Given the description of an element on the screen output the (x, y) to click on. 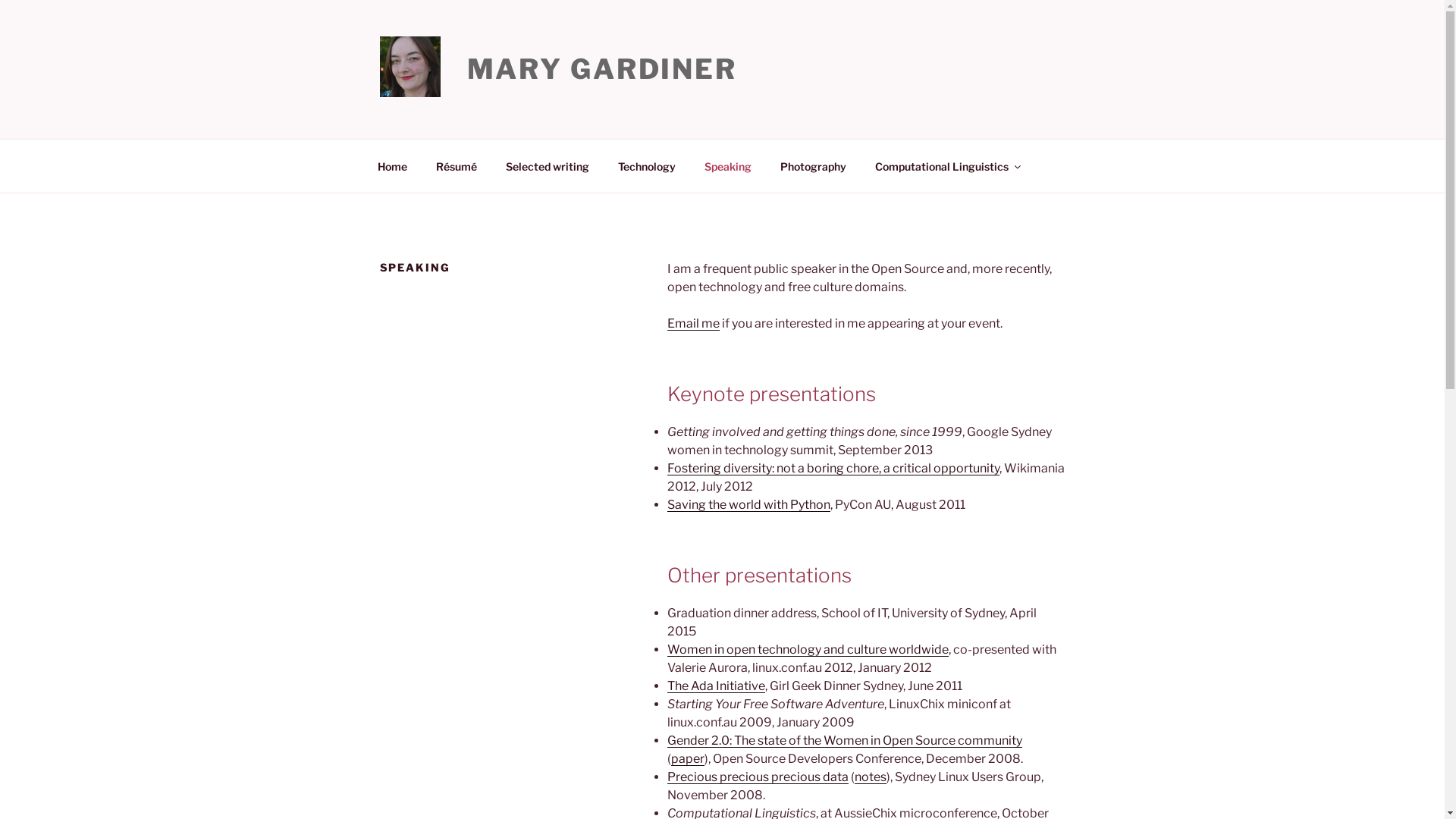
Saving the world with Python Element type: text (748, 504)
Precious precious precious data Element type: text (757, 776)
Computational Linguistics Element type: text (946, 165)
The Ada Initiative Element type: text (716, 685)
Technology Element type: text (647, 165)
Speaking Element type: text (728, 165)
Email me Element type: text (693, 323)
Home Element type: text (392, 165)
Selected writing Element type: text (547, 165)
notes Element type: text (870, 776)
Photography Element type: text (813, 165)
MARY GARDINER Element type: text (602, 68)
Women in open technology and culture worldwide Element type: text (807, 649)
Gender 2.0: The state of the Women in Open Source community Element type: text (844, 740)
paper Element type: text (687, 758)
